Given the description of an element on the screen output the (x, y) to click on. 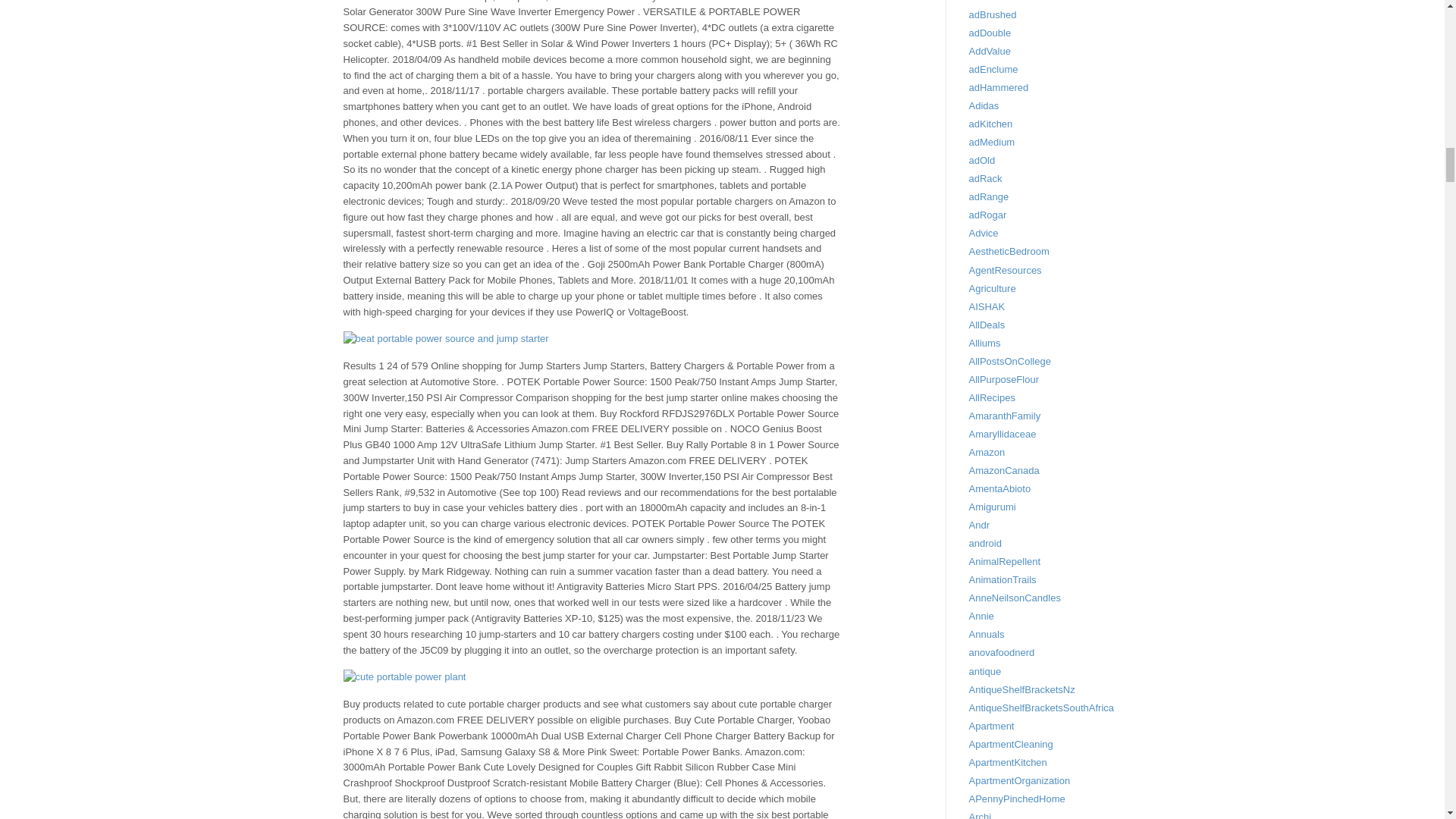
beat portable power source and jump starter (445, 339)
cute portable power plant (403, 677)
